Given the description of an element on the screen output the (x, y) to click on. 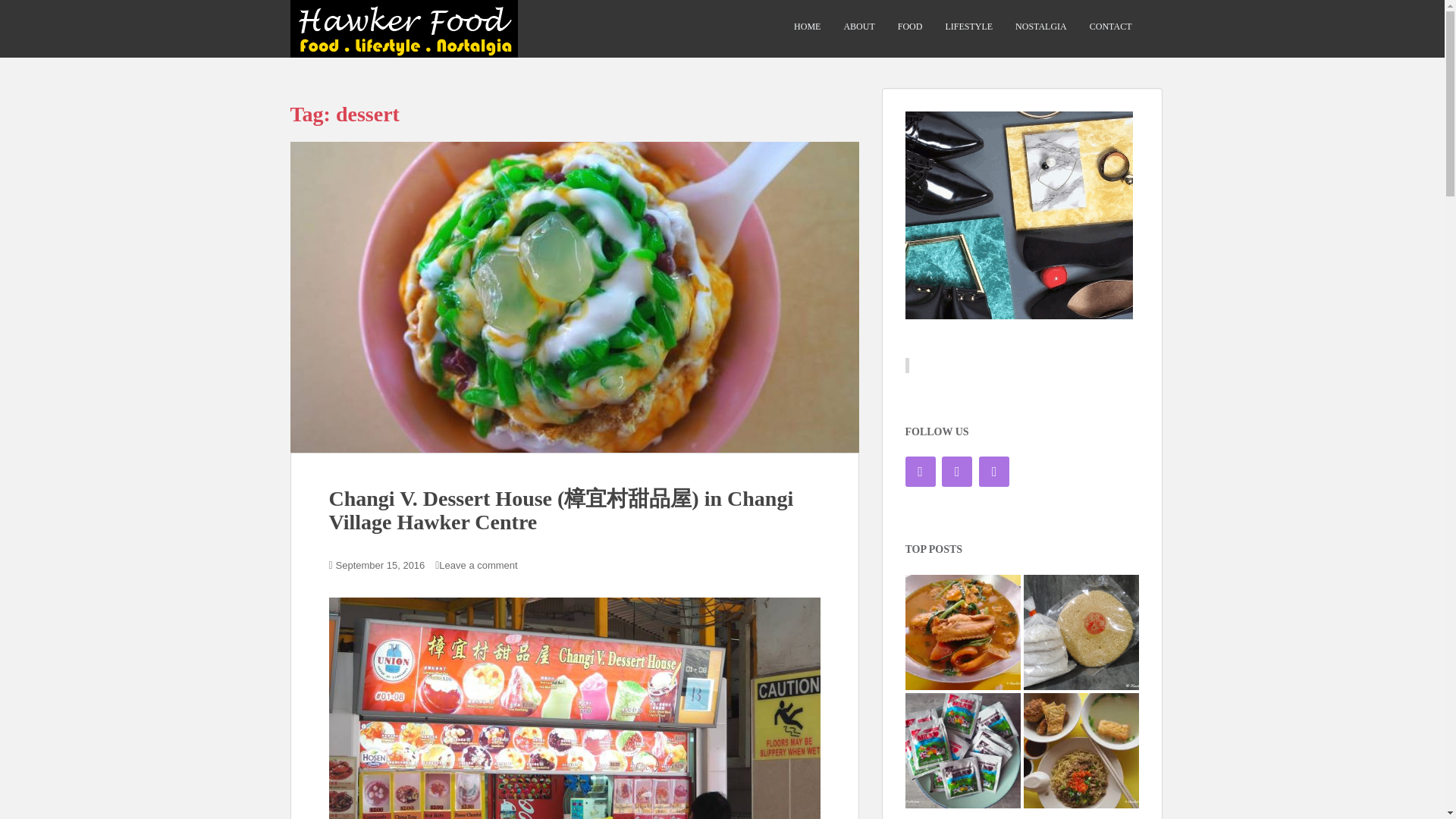
Leave a comment (481, 564)
LIFESTYLE (968, 26)
September 15, 2016 (380, 564)
NOSTALGIA (1040, 26)
ABOUT (859, 26)
CONTACT (1110, 26)
